Given the description of an element on the screen output the (x, y) to click on. 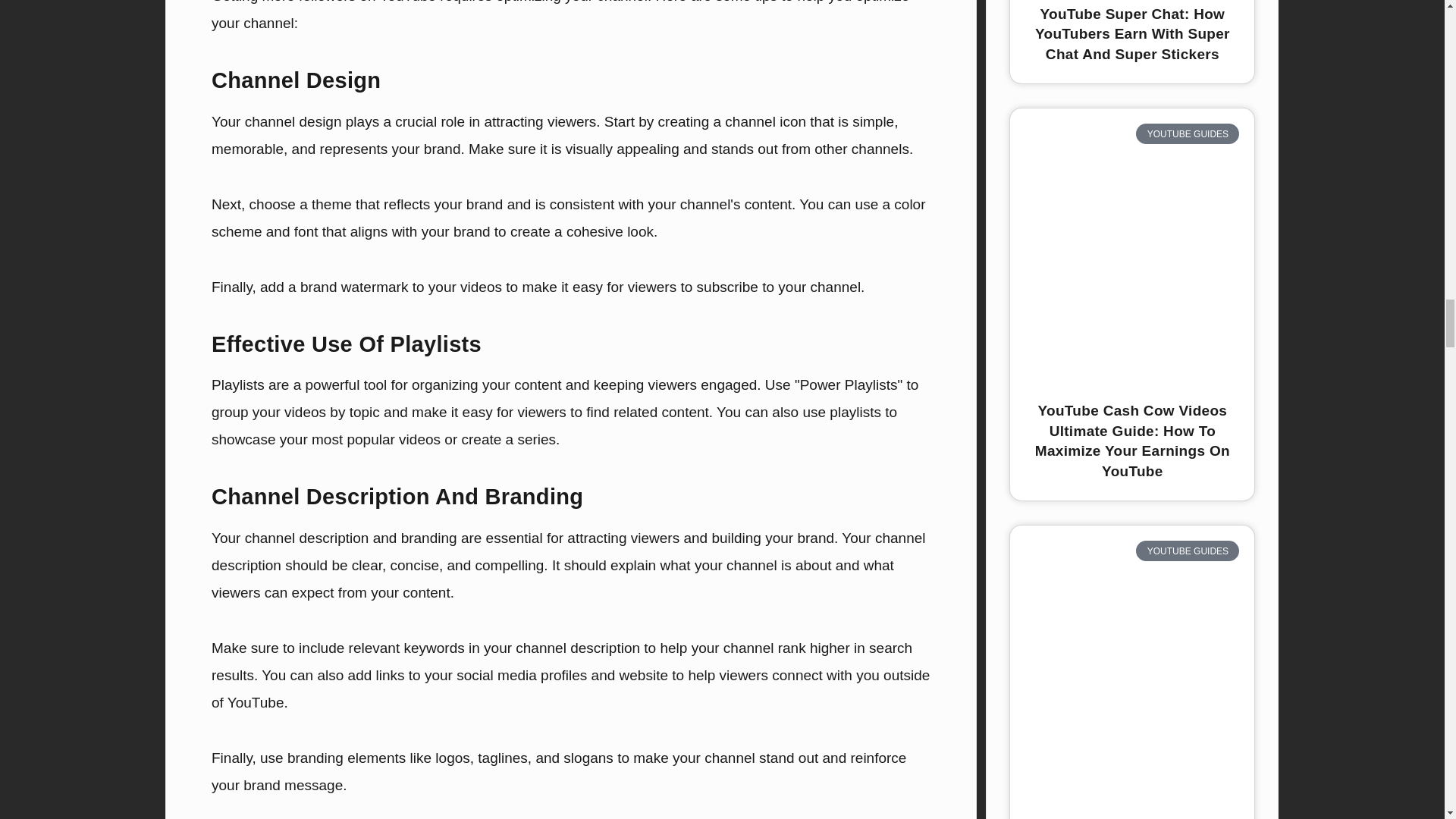
keeping viewers engaged (675, 384)
relevant keywords (406, 647)
branding are essential for attracting viewers and building (581, 537)
attracting viewers (539, 121)
optimizing your channel (571, 2)
